Given the description of an element on the screen output the (x, y) to click on. 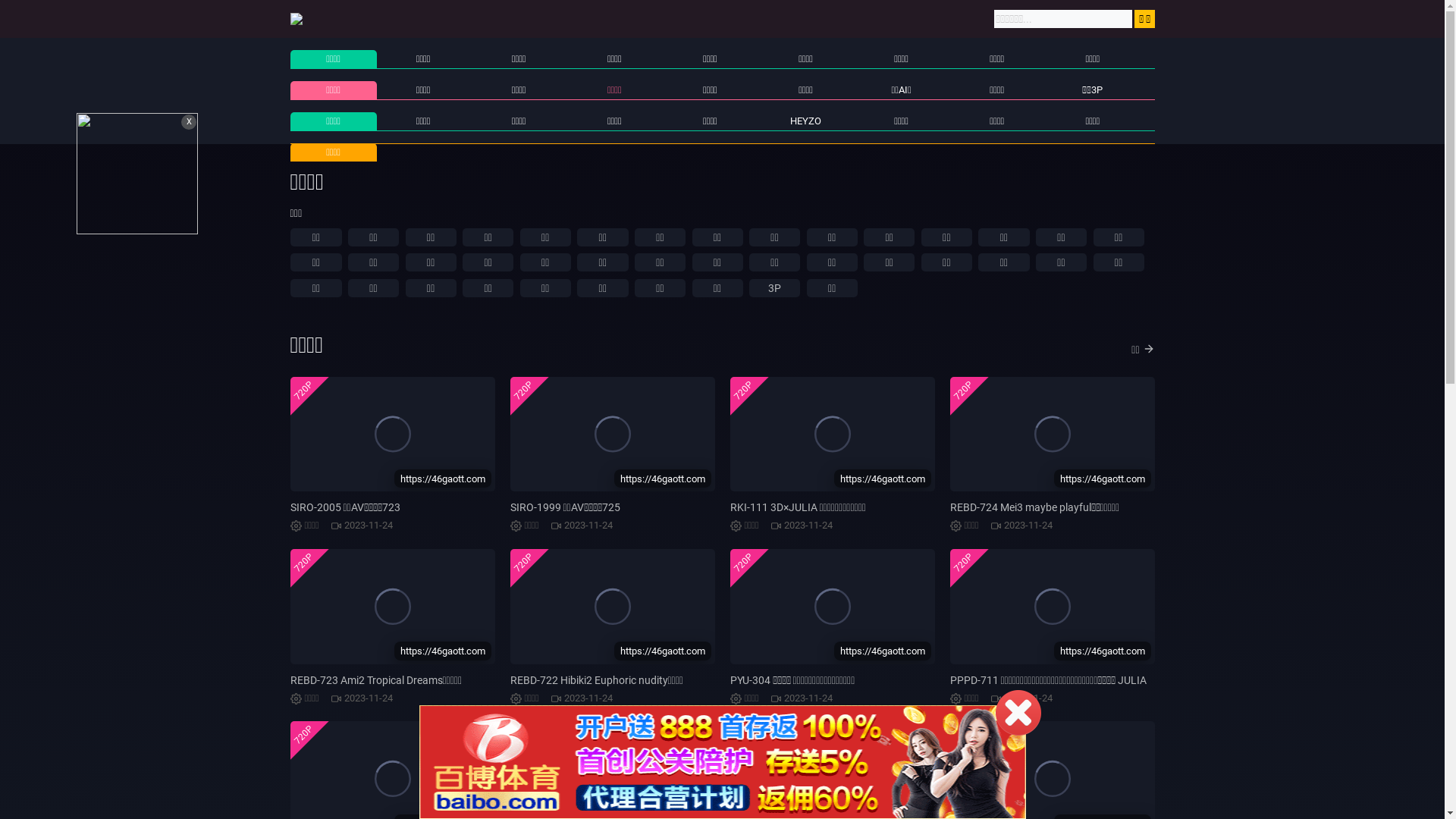
3P Element type: text (774, 288)
720P
https://46gaott.com Element type: text (831, 606)
720P
https://46gaott.com Element type: text (831, 434)
720P
https://46gaott.com Element type: text (391, 606)
720P
https://46gaott.com Element type: text (611, 606)
720P
https://46gaott.com Element type: text (611, 434)
HEYZO Element type: text (805, 120)
720P
https://46gaott.com Element type: text (1051, 434)
720P
https://46gaott.com Element type: text (391, 434)
720P
https://46gaott.com Element type: text (1051, 606)
